Given the description of an element on the screen output the (x, y) to click on. 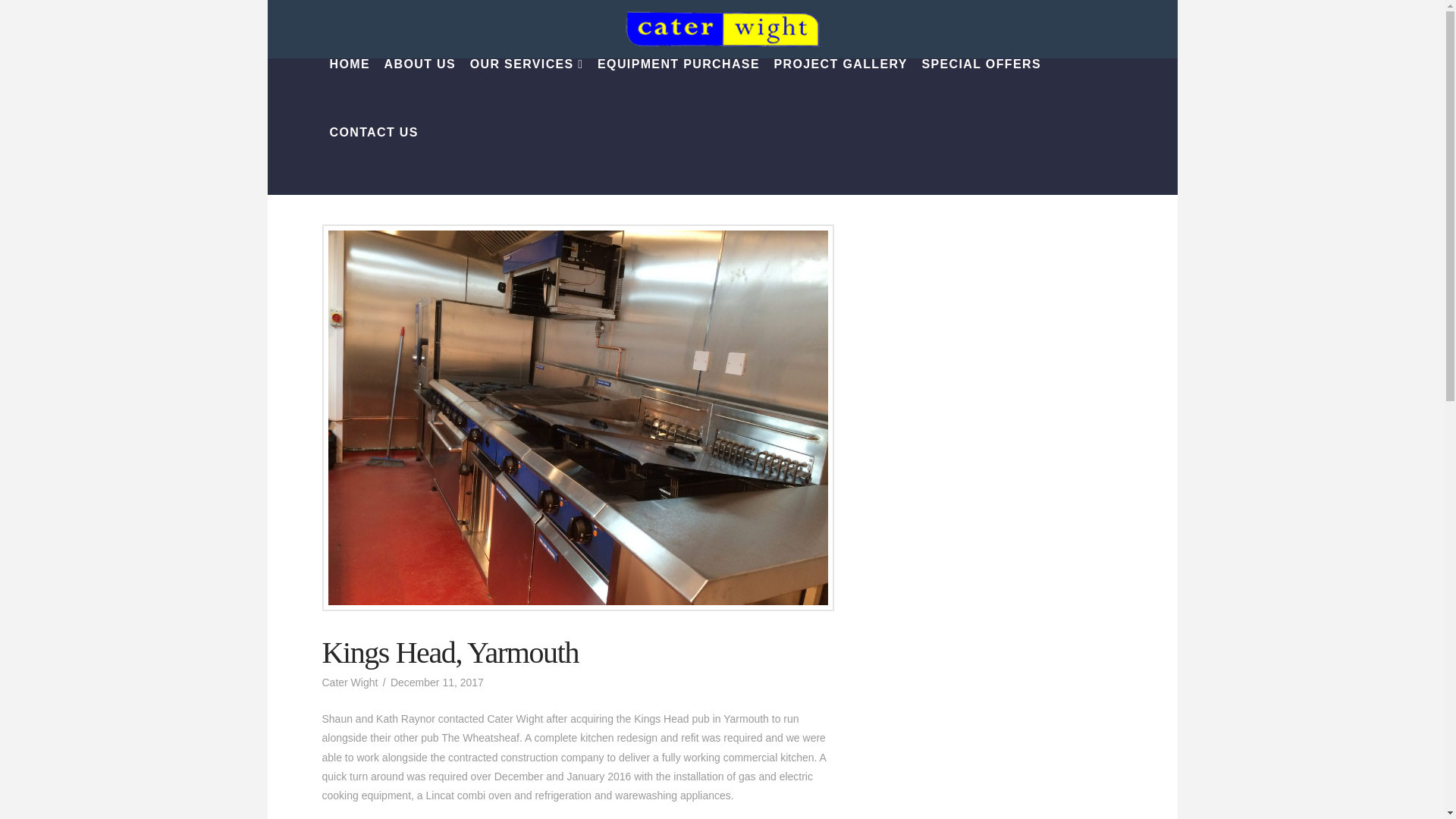
ABOUT US (420, 92)
PROJECT GALLERY (840, 92)
OUR SERVICES (526, 92)
CONTACT US (373, 160)
SPECIAL OFFERS (980, 92)
EQUIPMENT PURCHASE (677, 92)
Leading Isle of Wight Catering Equipment Supplier (721, 28)
